Given the description of an element on the screen output the (x, y) to click on. 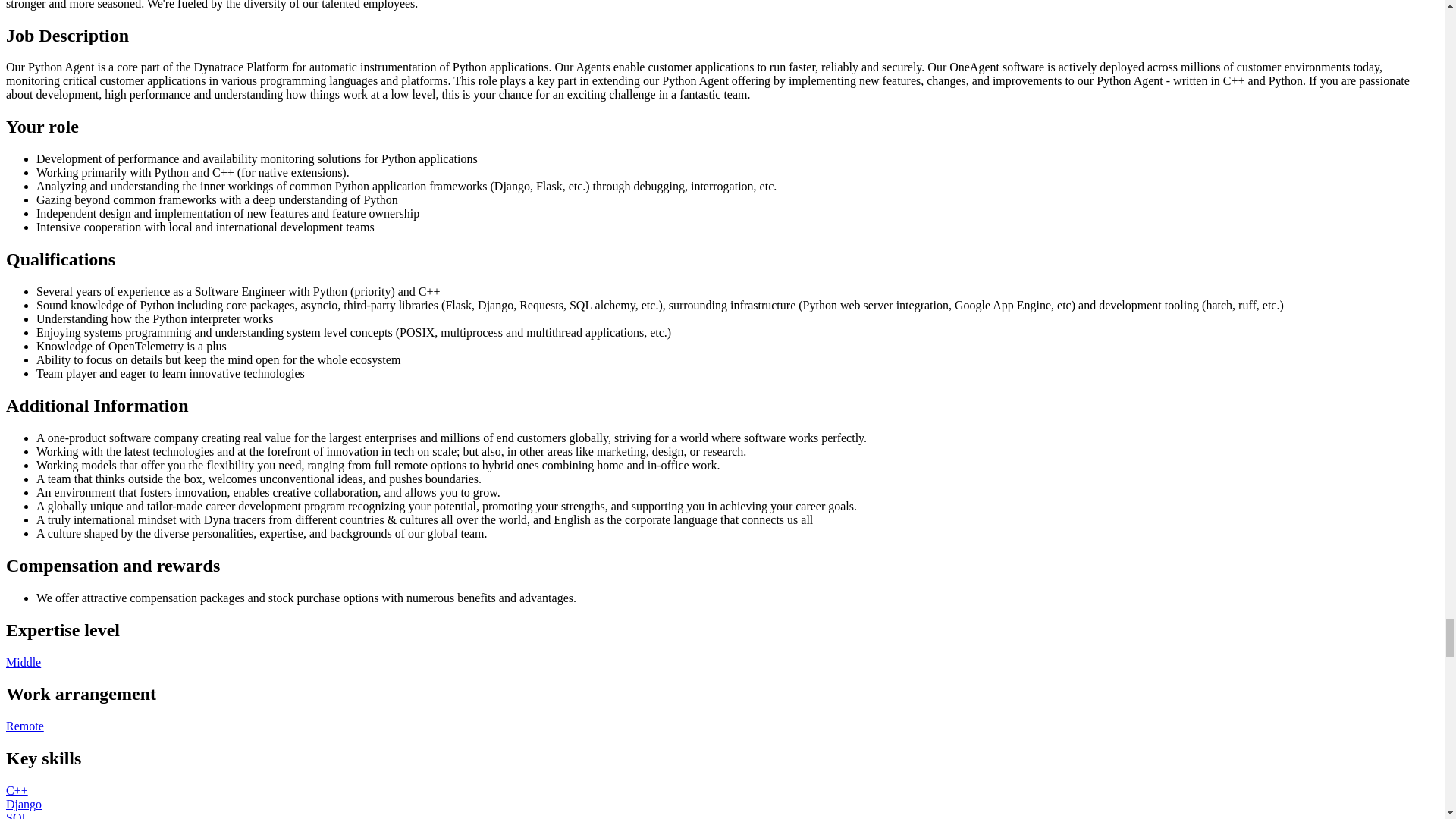
Remote (24, 725)
SQL (17, 815)
Django (23, 803)
Middle (22, 662)
